Given the description of an element on the screen output the (x, y) to click on. 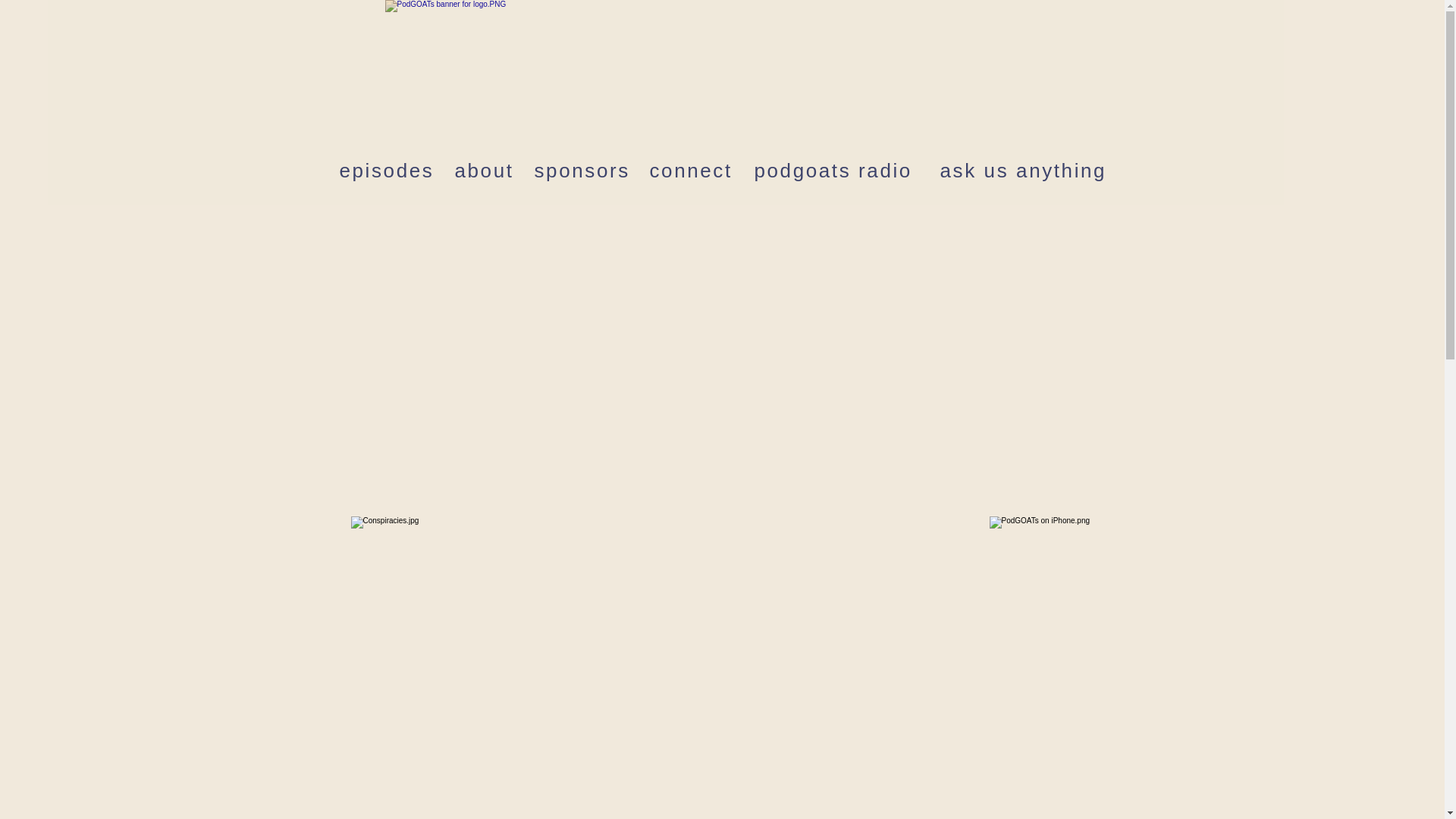
sponsors (581, 170)
ask us anything (1023, 170)
podgoats radio (832, 170)
episodes (386, 170)
about (483, 170)
connect (690, 170)
